Given the description of an element on the screen output the (x, y) to click on. 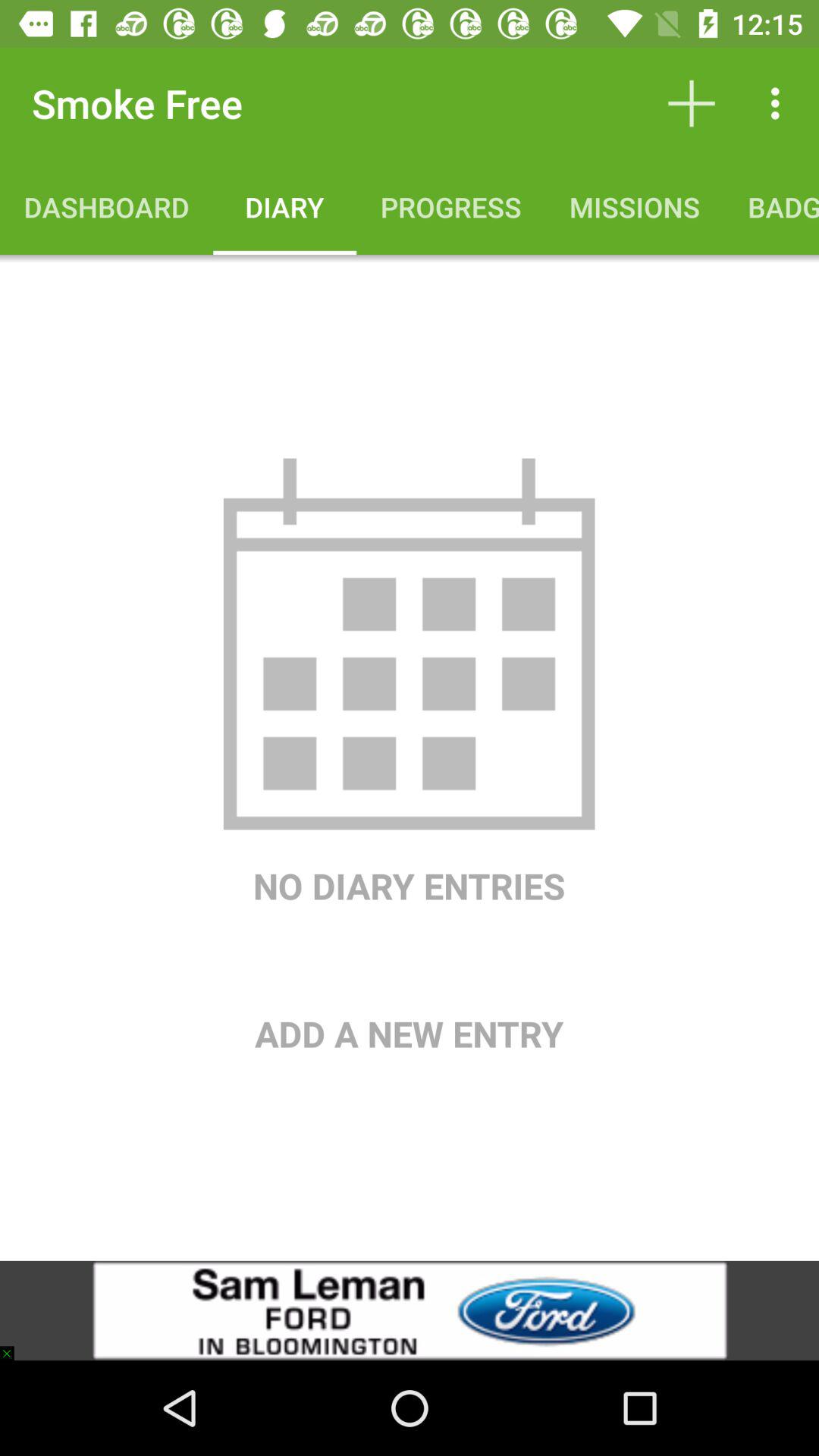
open the icon below add a new item (409, 1310)
